Given the description of an element on the screen output the (x, y) to click on. 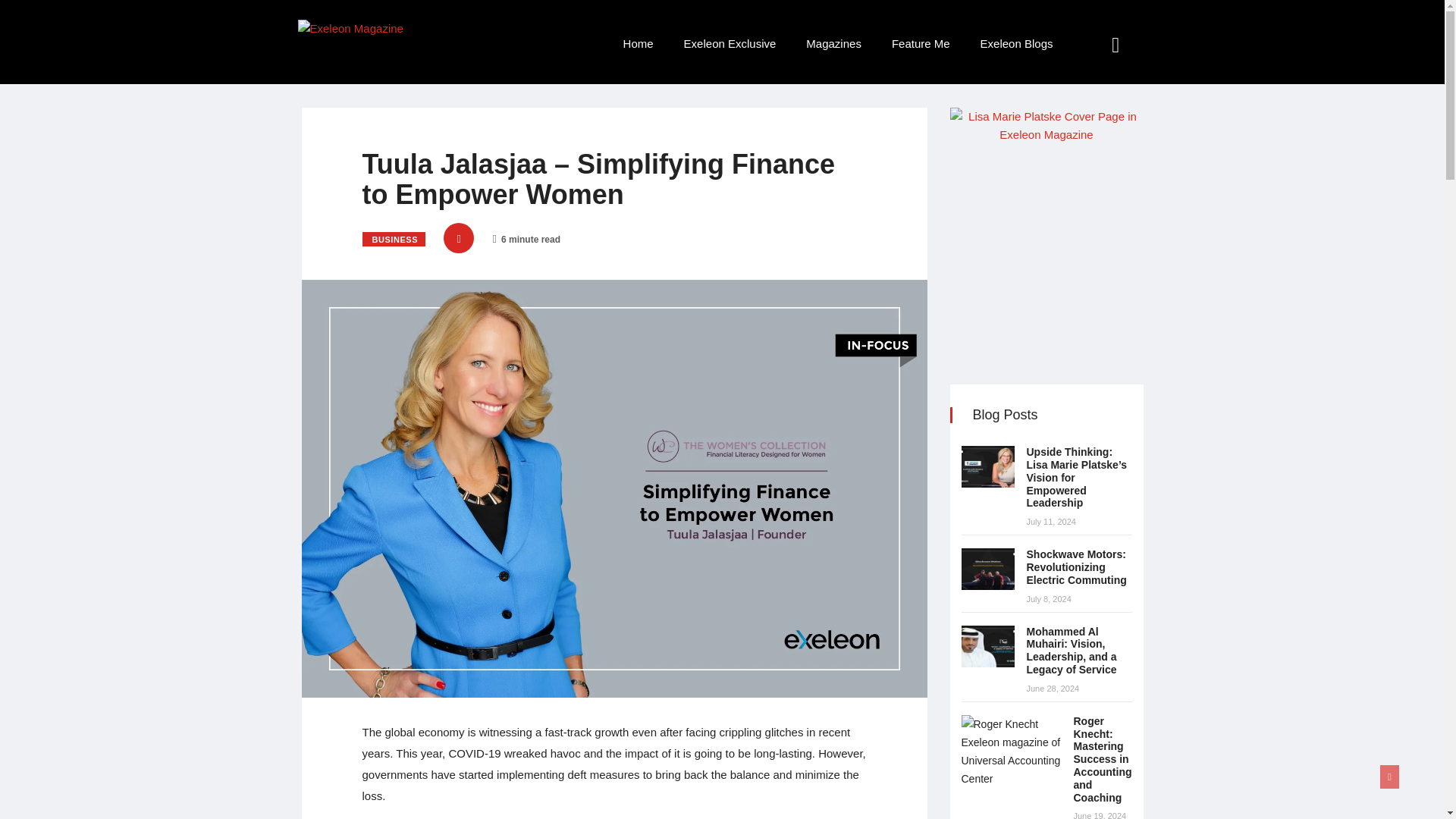
Shockwave Motors: Revolutionizing Electric Commuting (987, 568)
Roger Knecht: Mastering Success in Accounting and Coaching (1103, 758)
Exeleon Exclusive (730, 43)
BUSINESS (394, 238)
Shockwave Motors: Revolutionizing Electric Commuting (1076, 566)
Shockwave Motors: Revolutionizing Electric Commuting (1076, 566)
Roger Knecht: Mastering Success in Accounting and Coaching (1010, 750)
Home (638, 43)
Roger Knecht: Mastering Success in Accounting and Coaching (1103, 758)
Feature Me (920, 43)
Magazines (833, 43)
Exeleon Blogs (1016, 43)
